Given the description of an element on the screen output the (x, y) to click on. 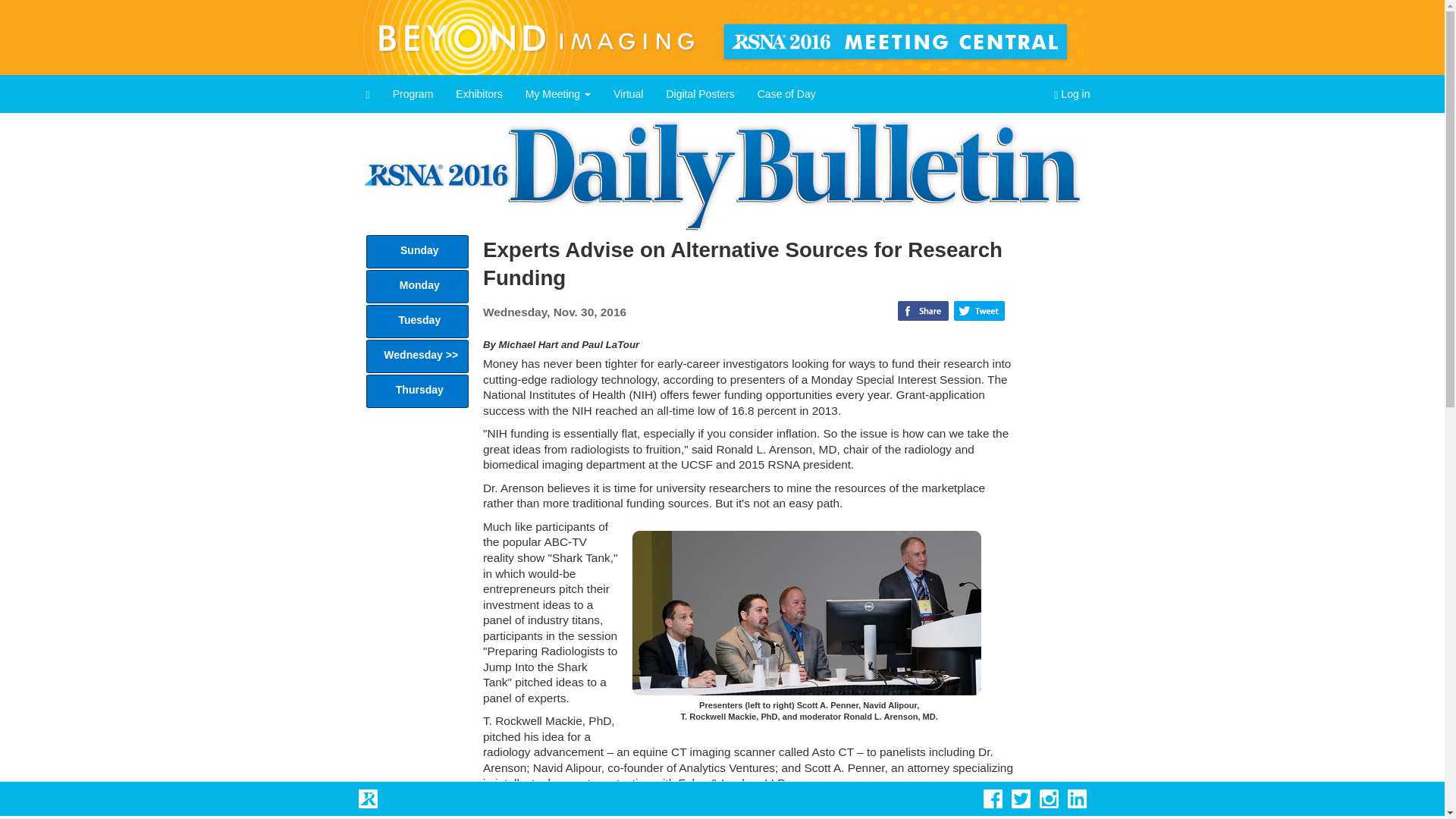
Twitter (979, 311)
Log in (1071, 94)
Exhibitors (478, 94)
Program (413, 94)
Facebook Share (923, 311)
Digital Posters (699, 94)
Virtual (627, 94)
My Meeting  (557, 94)
Case of Day (786, 94)
